Given the description of an element on the screen output the (x, y) to click on. 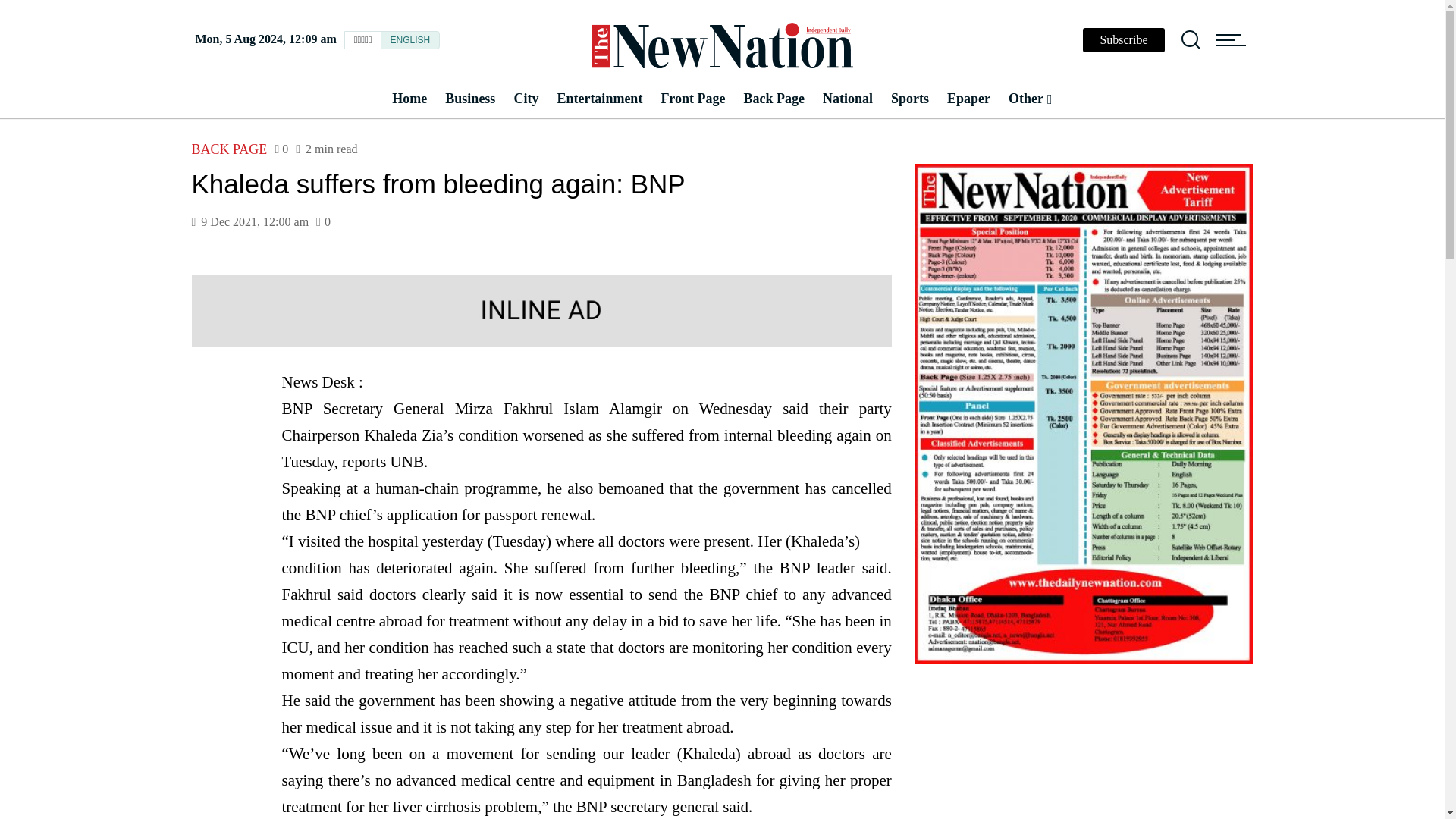
Sports (909, 98)
Home (408, 98)
0 (322, 222)
Other (1029, 98)
0 (281, 148)
Entertainment (598, 98)
City (525, 98)
Front Page (691, 98)
BACK PAGE (228, 149)
Back Page (774, 98)
